Given the description of an element on the screen output the (x, y) to click on. 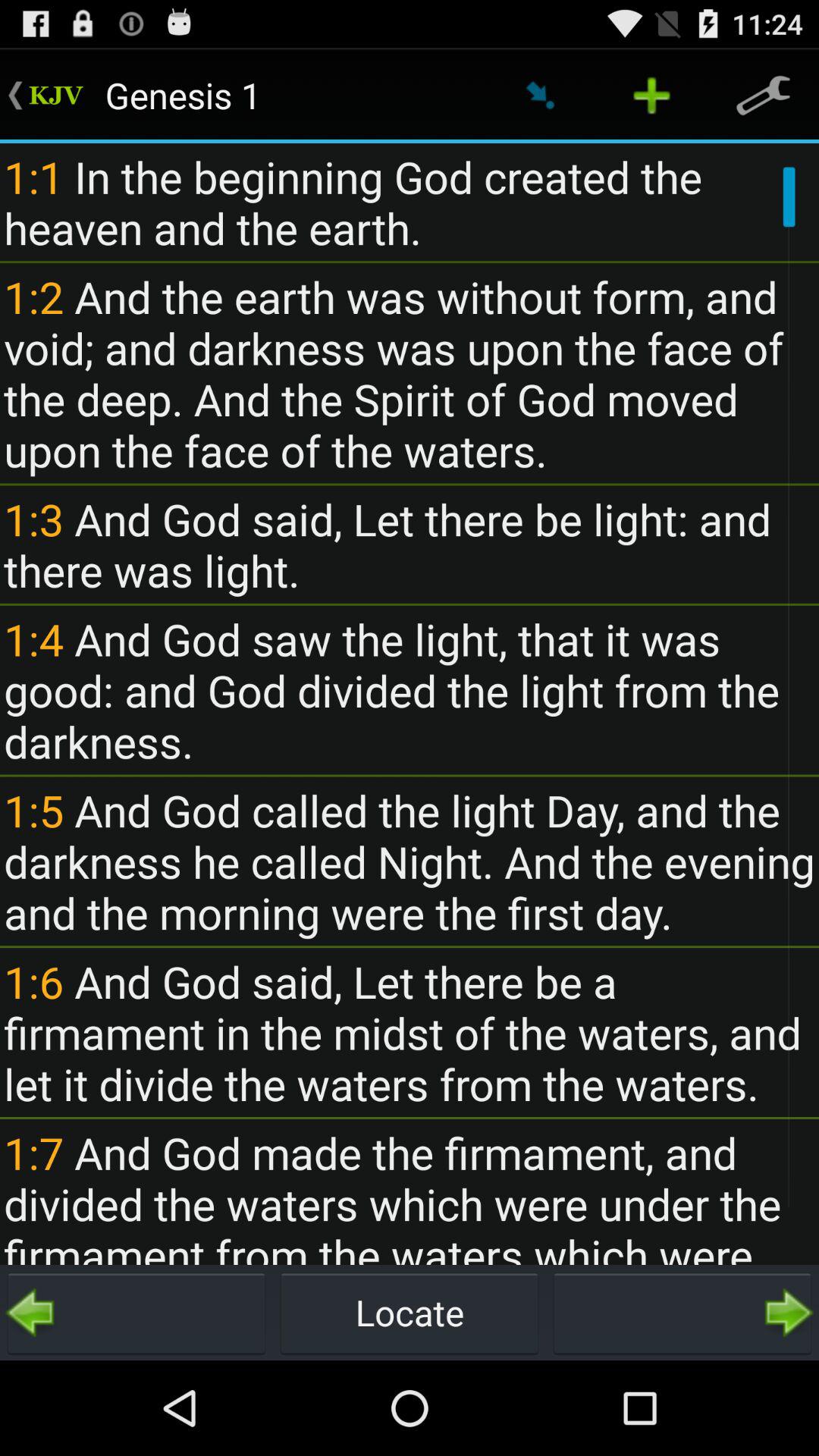
select button at the bottom left corner (136, 1312)
